Given the description of an element on the screen output the (x, y) to click on. 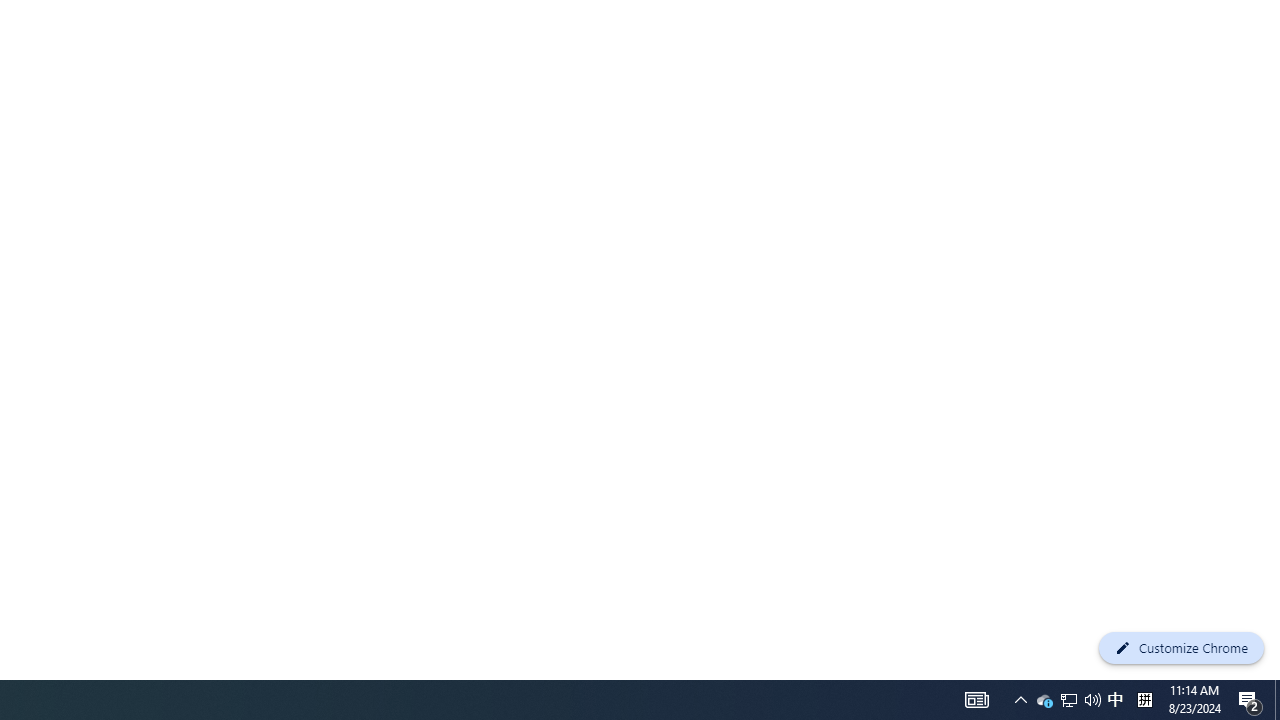
Customize Chrome (1181, 647)
